Given the description of an element on the screen output the (x, y) to click on. 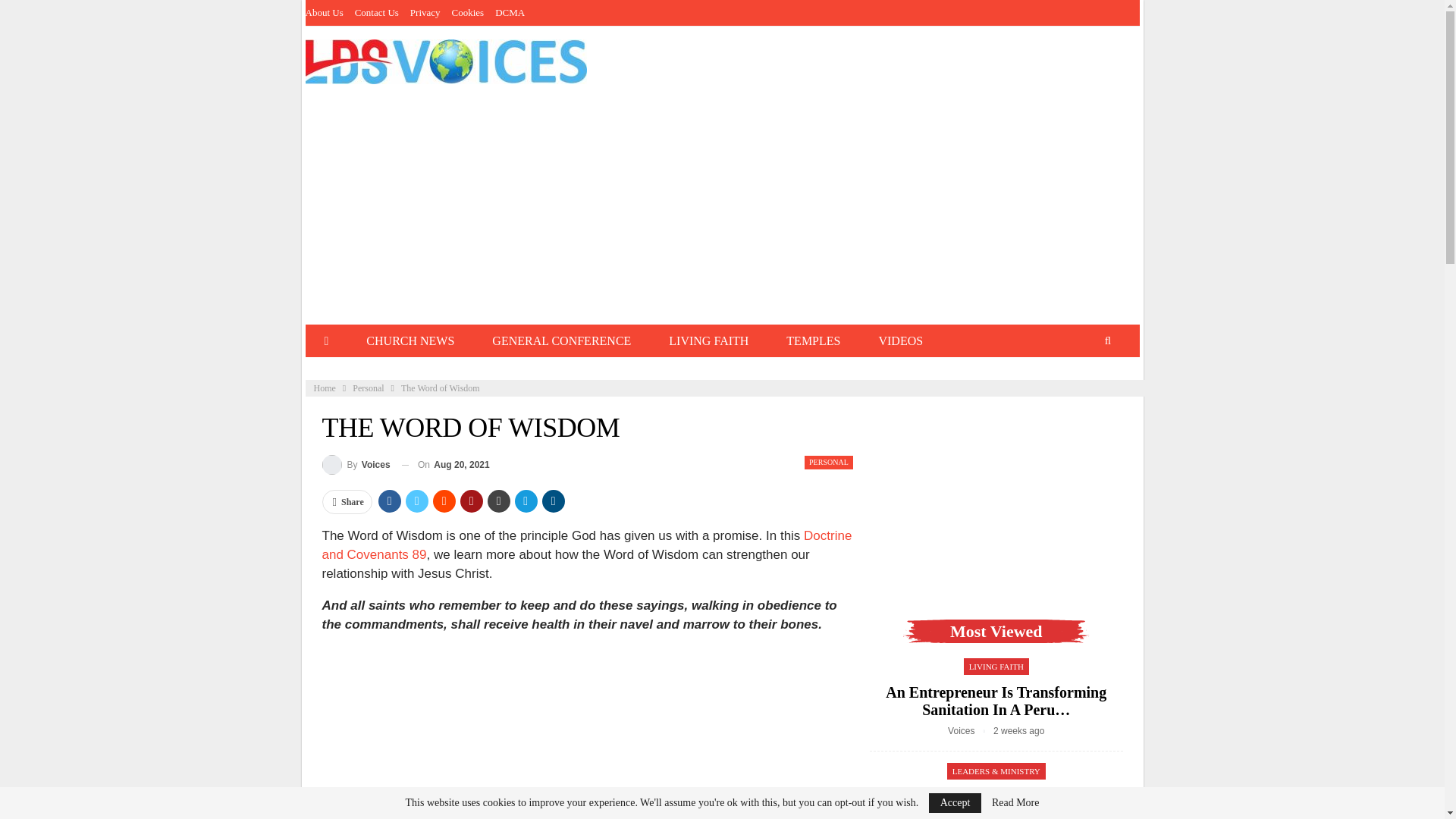
DCMA (509, 12)
VIDEOS (900, 340)
Cookies (467, 12)
Browse Author Articles (969, 730)
By Voices (355, 465)
Privacy (425, 12)
TEMPLES (813, 340)
Personal (368, 388)
Home (325, 388)
Contact Us (376, 12)
The Word of Wisdom (586, 733)
Doctrine and Covenants 89 (586, 544)
Browse Author Articles (355, 465)
GENERAL CONFERENCE (561, 340)
CHURCH NEWS (410, 340)
